Given the description of an element on the screen output the (x, y) to click on. 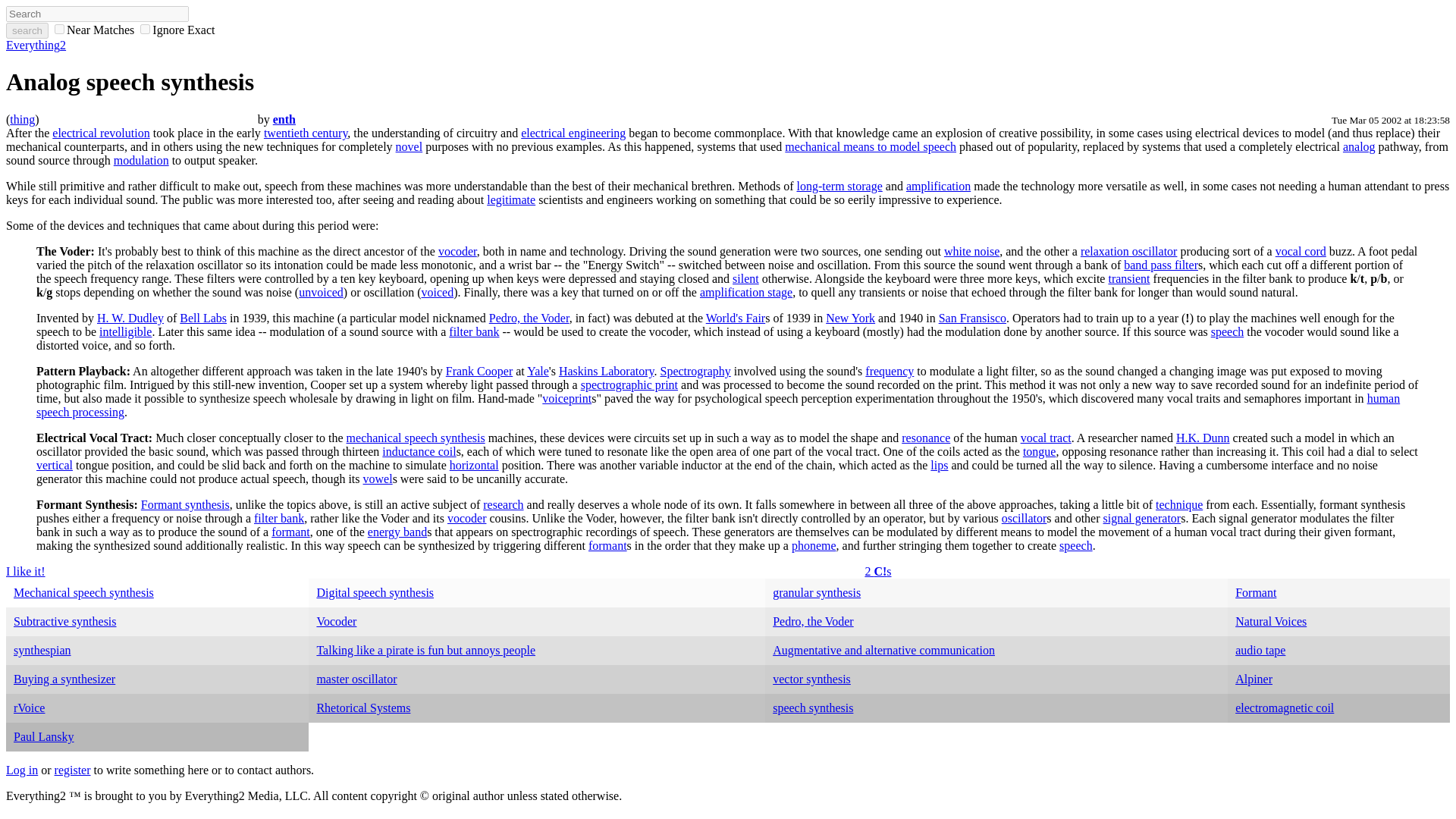
legitimate (510, 199)
Search within Everything2 (26, 30)
vocal cord (1300, 250)
relaxation oscillator (1128, 250)
voiced (438, 291)
vocal cord (1300, 250)
amplification stage (746, 291)
Pedro, the Voder (529, 318)
Bell Labs (203, 318)
thing (22, 119)
electrical engineering (573, 132)
Spectrography (694, 370)
long-term storage (839, 185)
transient (1129, 278)
